Given the description of an element on the screen output the (x, y) to click on. 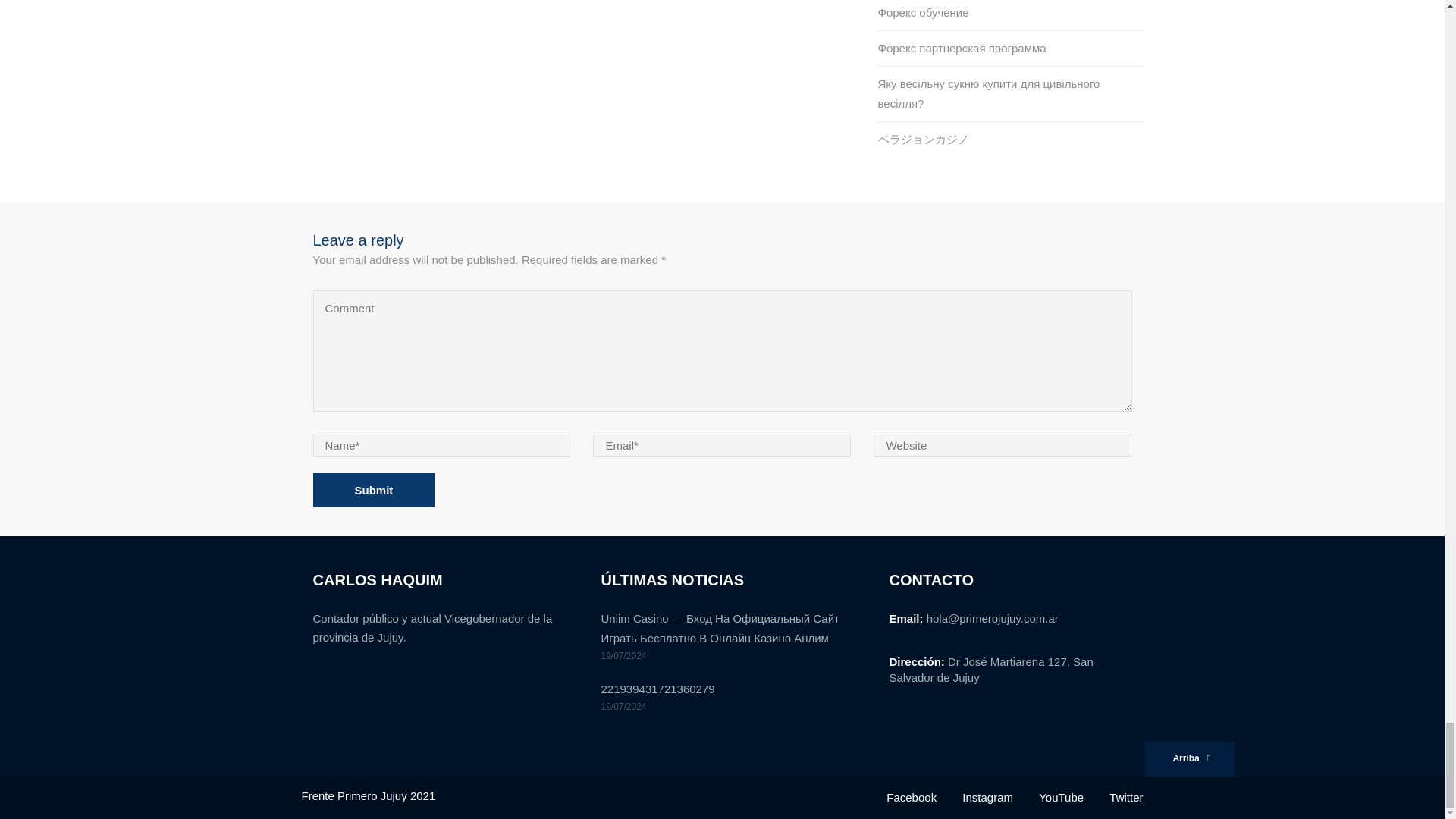
Submit (373, 489)
